Given the description of an element on the screen output the (x, y) to click on. 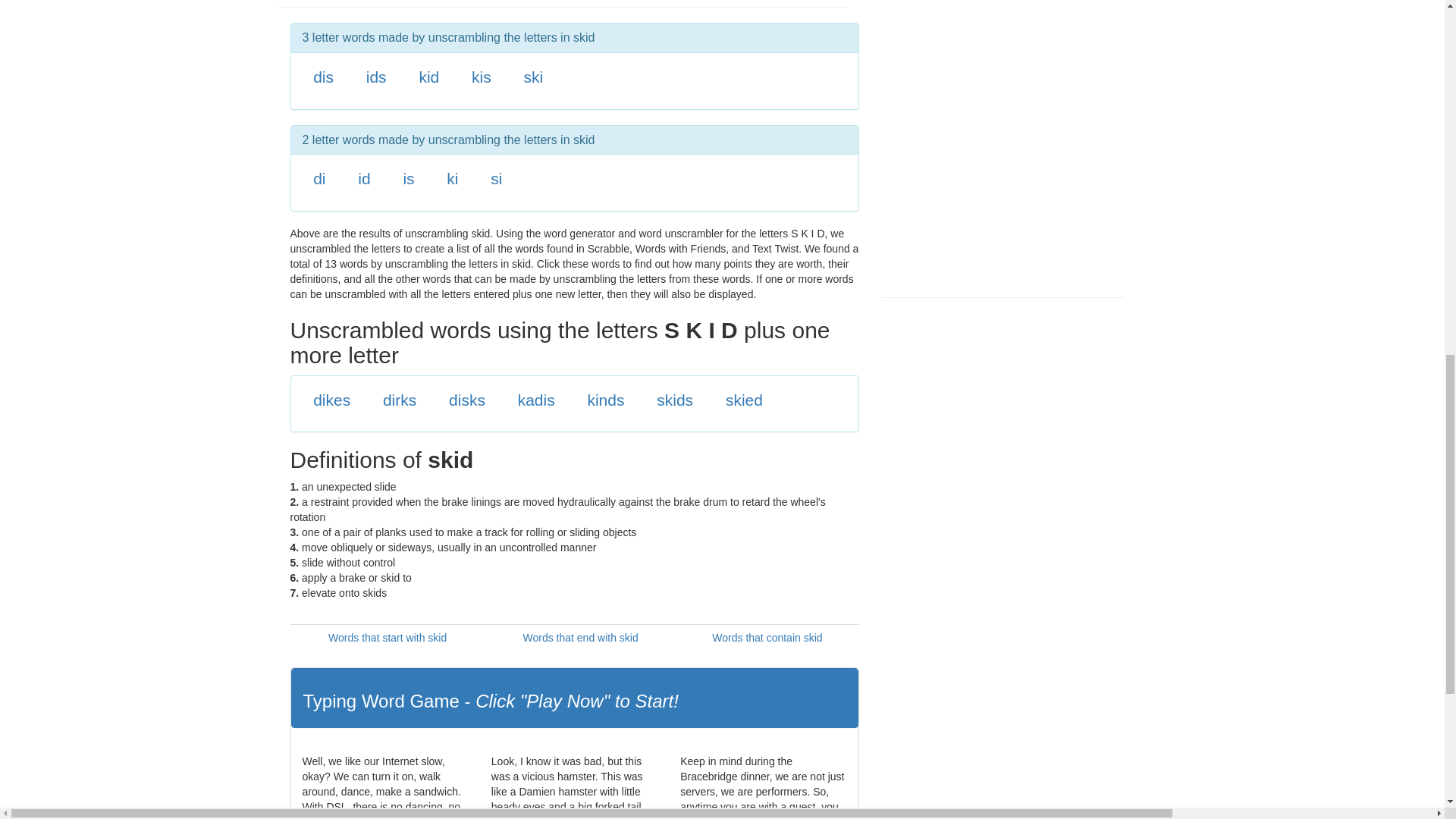
ids (376, 76)
kis (481, 76)
kinds (605, 399)
disks (466, 399)
dis (323, 76)
Words that start with skid (387, 637)
ski (532, 76)
kid (429, 76)
dikes (331, 399)
kadis (536, 399)
